Given the description of an element on the screen output the (x, y) to click on. 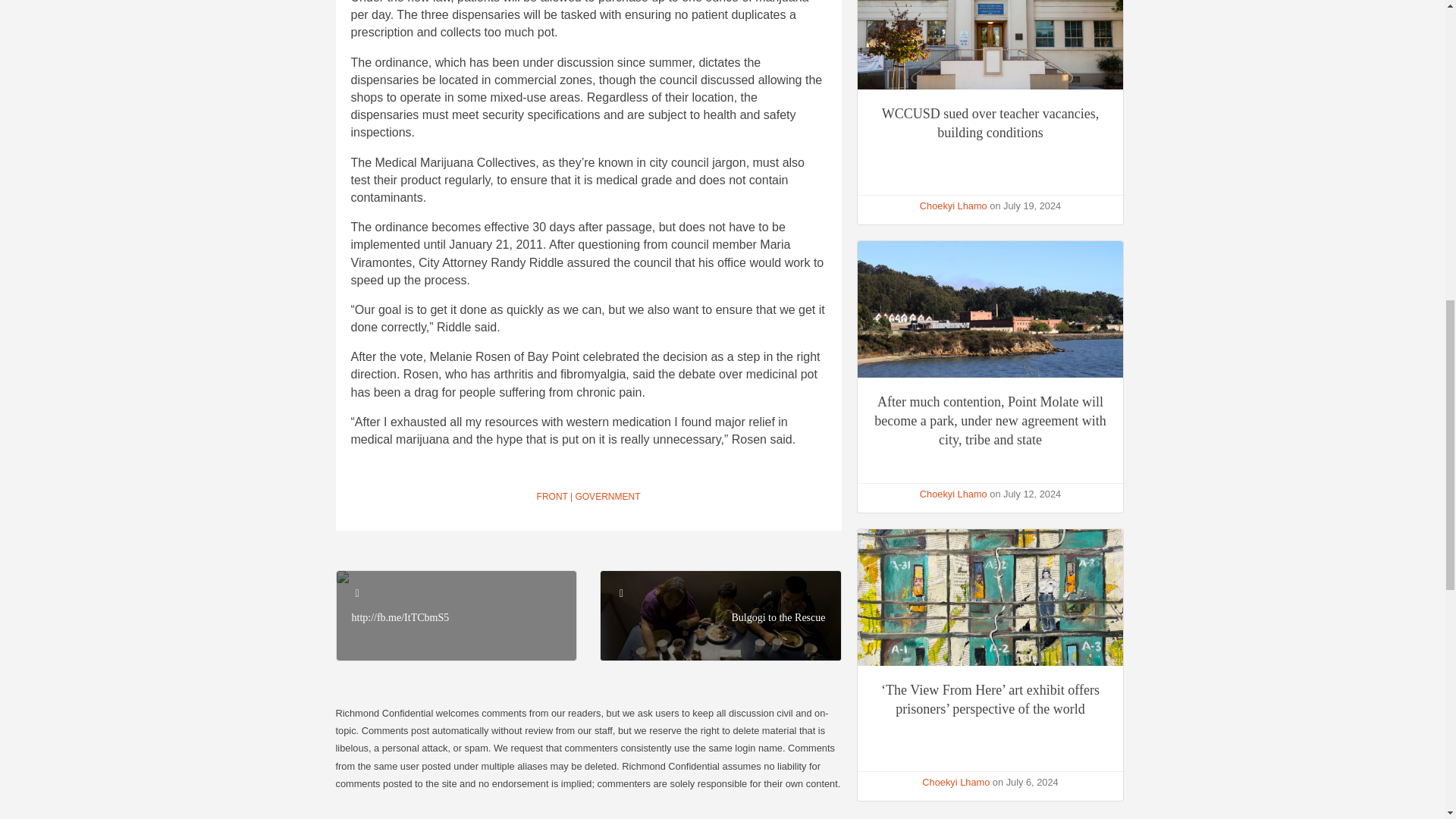
Choekyi Lhamo (953, 493)
Choekyi Lhamo (955, 781)
FRONT (552, 496)
WCCUSD sued over teacher vacancies, building conditions (990, 123)
GOVERNMENT (607, 496)
Bulgogi to the Rescue (777, 617)
Choekyi Lhamo (953, 205)
